Given the description of an element on the screen output the (x, y) to click on. 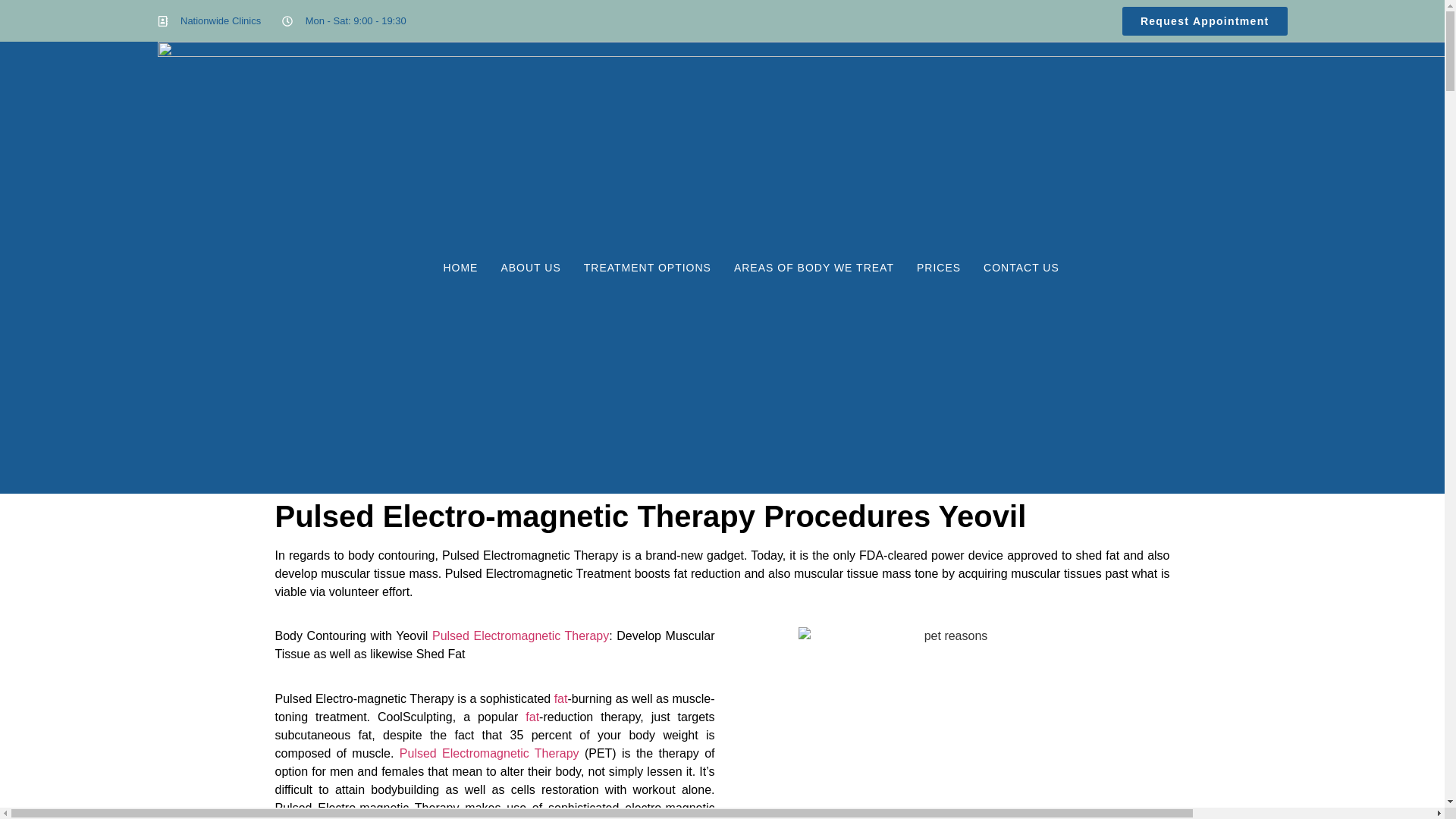
CONTACT US (1021, 267)
fat (531, 716)
fat (560, 698)
AREAS OF BODY WE TREAT (813, 267)
Nationwide Clinics (209, 20)
PRICES (938, 267)
Pulsed Electromagnetic Therapy (488, 753)
HOME (459, 267)
Mon - Sat: 9:00 - 19:30 (344, 20)
TREATMENT OPTIONS (647, 267)
Pulsed Electromagnetic Therapy (520, 635)
Request Appointment (1204, 20)
ABOUT US (530, 267)
